Given the description of an element on the screen output the (x, y) to click on. 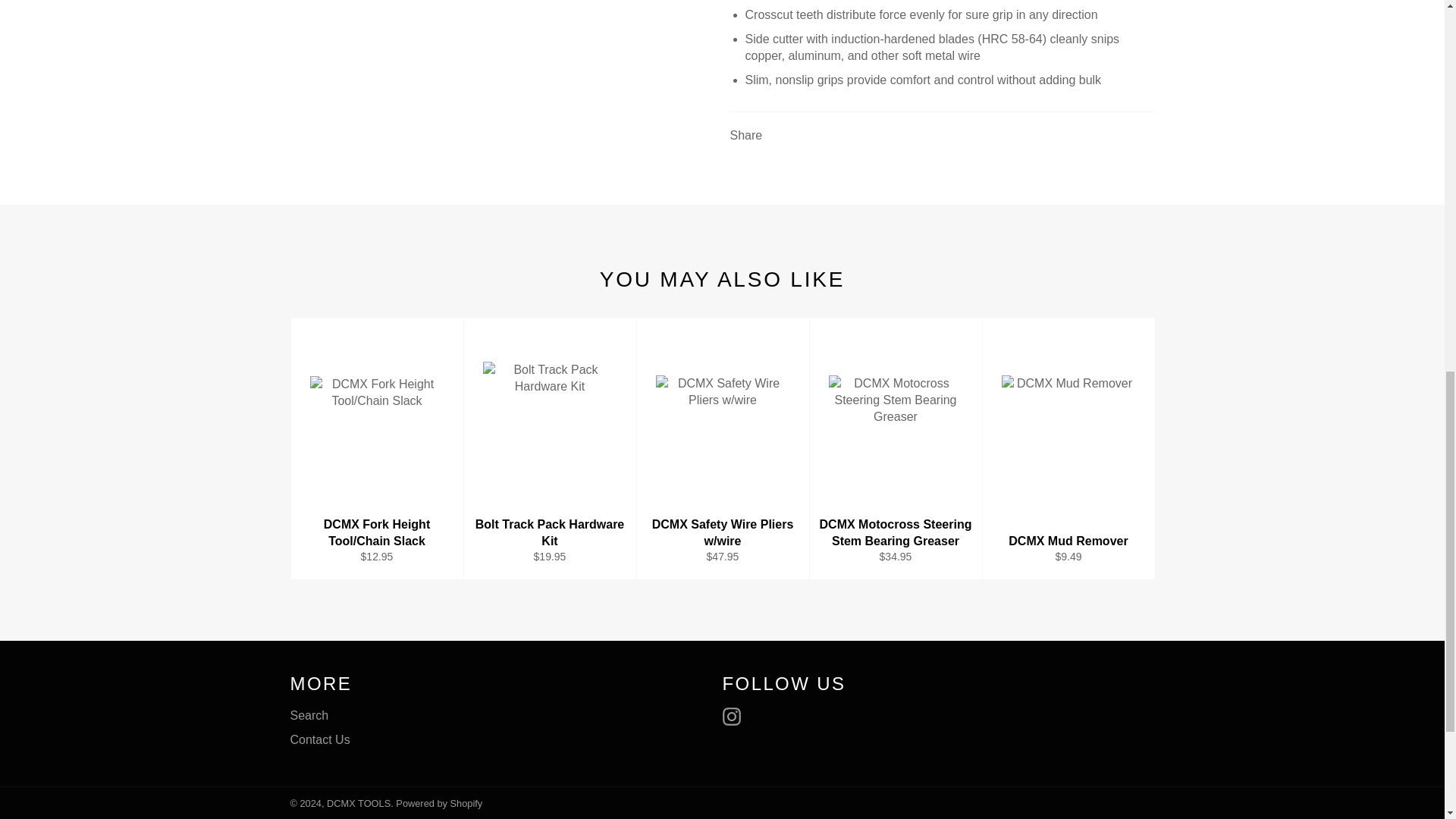
DCMX TOOLS on Instagram (735, 716)
